Given the description of an element on the screen output the (x, y) to click on. 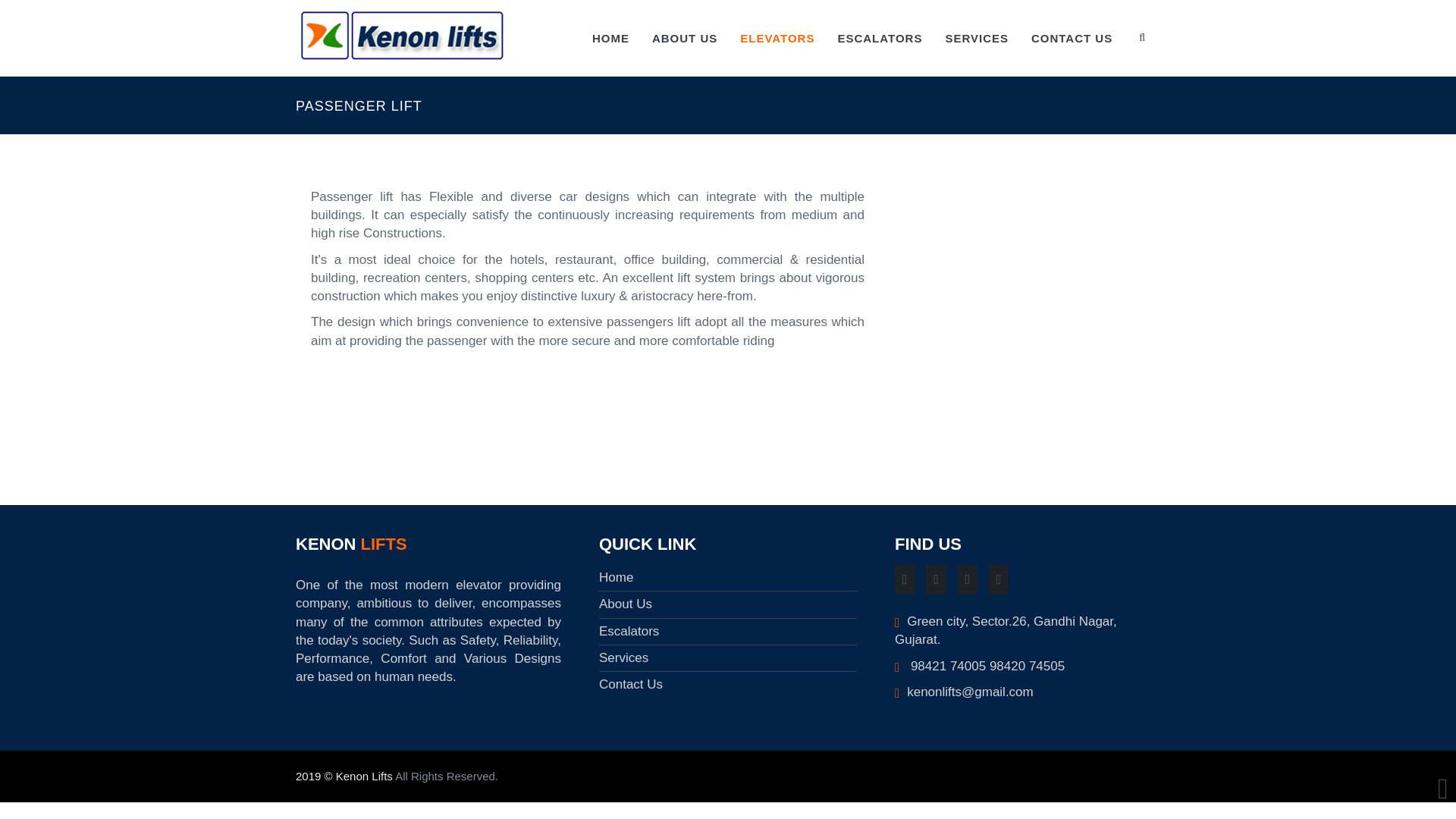
Escalators (628, 631)
ESCALATORS (879, 38)
SERVICES (976, 38)
Services (622, 657)
ABOUT US (684, 38)
Contact Us (630, 684)
ELEVATORS (777, 38)
Home (615, 577)
CONTACT US (1072, 38)
About Us (625, 603)
